Given the description of an element on the screen output the (x, y) to click on. 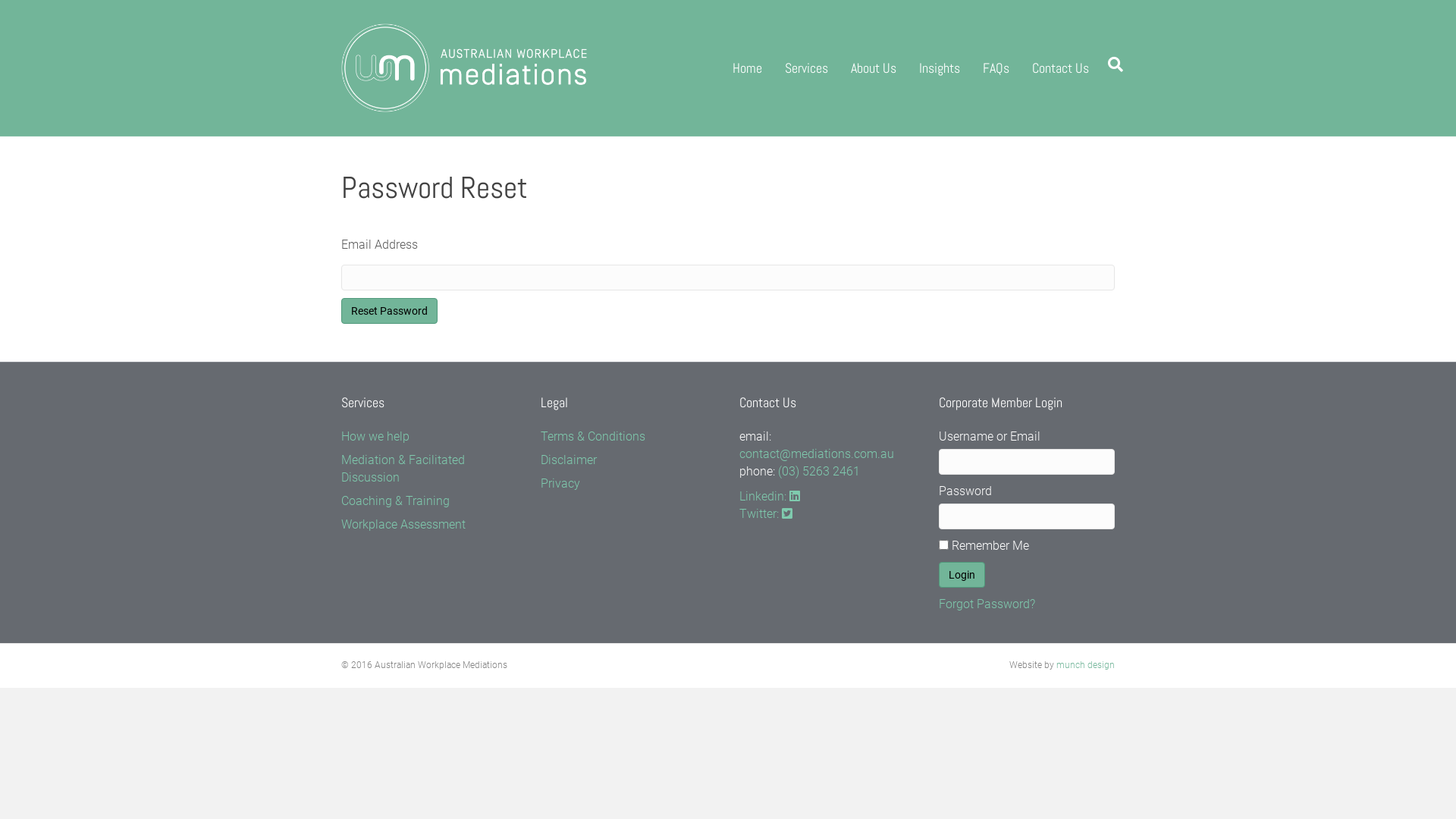
contact@mediations.com.au Element type: text (816, 453)
Home Element type: text (747, 67)
Twitter: Element type: text (765, 513)
Contact Us Element type: text (1060, 67)
Insights Element type: text (939, 67)
Services Element type: text (806, 67)
Workplace Assessment Element type: text (403, 524)
Reset Password Element type: text (389, 310)
Privacy Element type: text (559, 483)
Linkedin: Element type: text (769, 496)
FAQs Element type: text (995, 67)
(03) 5263 2461 Element type: text (818, 471)
Terms & Conditions Element type: text (591, 436)
Mediation & Facilitated Discussion Element type: text (402, 468)
Coaching & Training Element type: text (395, 500)
Login Element type: text (961, 574)
Disclaimer Element type: text (567, 459)
About Us Element type: text (873, 67)
How we help Element type: text (375, 436)
Forgot Password? Element type: text (986, 603)
munch design Element type: text (1085, 664)
